Given the description of an element on the screen output the (x, y) to click on. 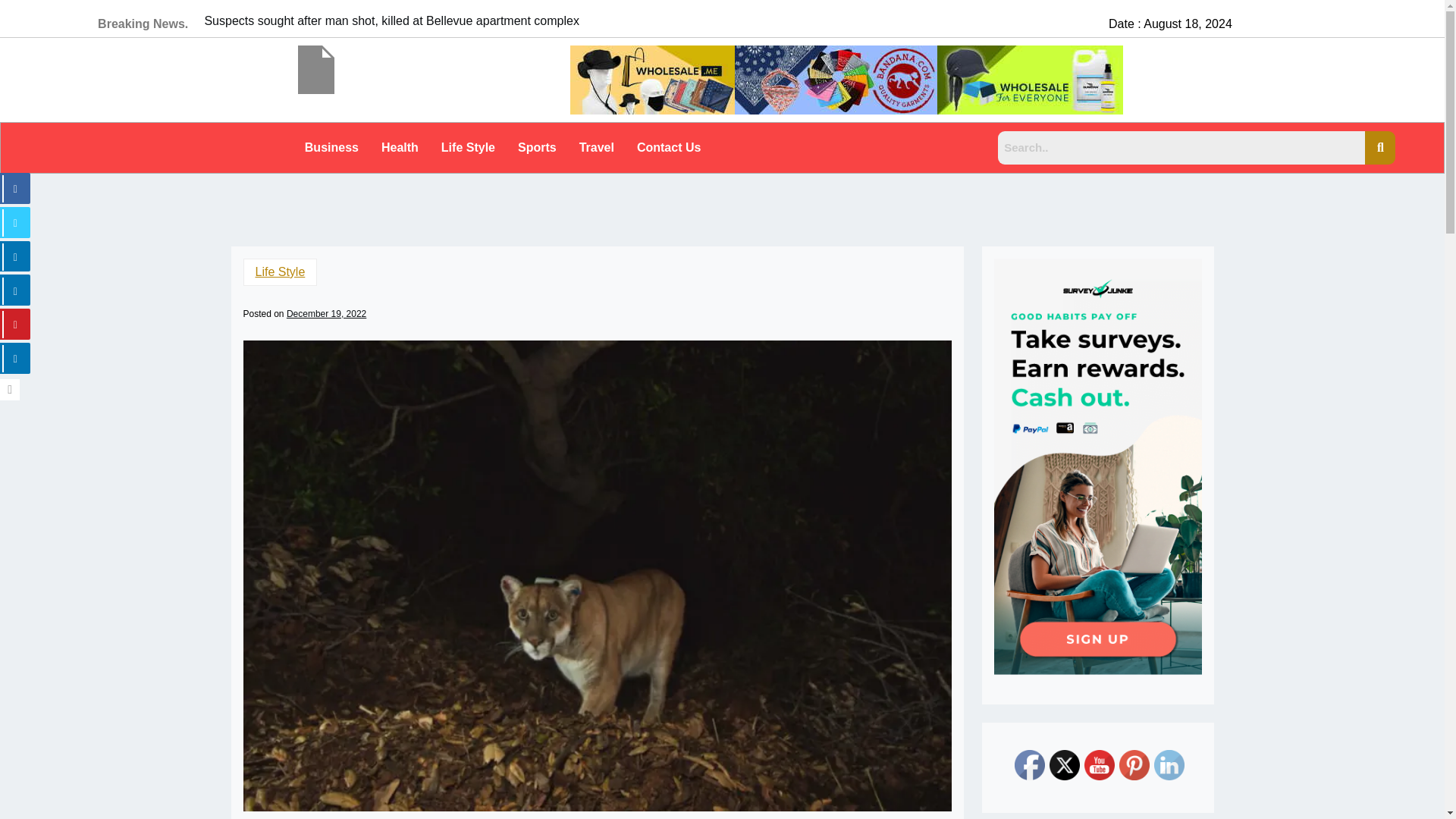
YouTube (1099, 765)
Facebook (1029, 765)
Search (1181, 147)
Twitter (1064, 765)
LinkedIn (1169, 765)
Pinterest (1134, 765)
